Given the description of an element on the screen output the (x, y) to click on. 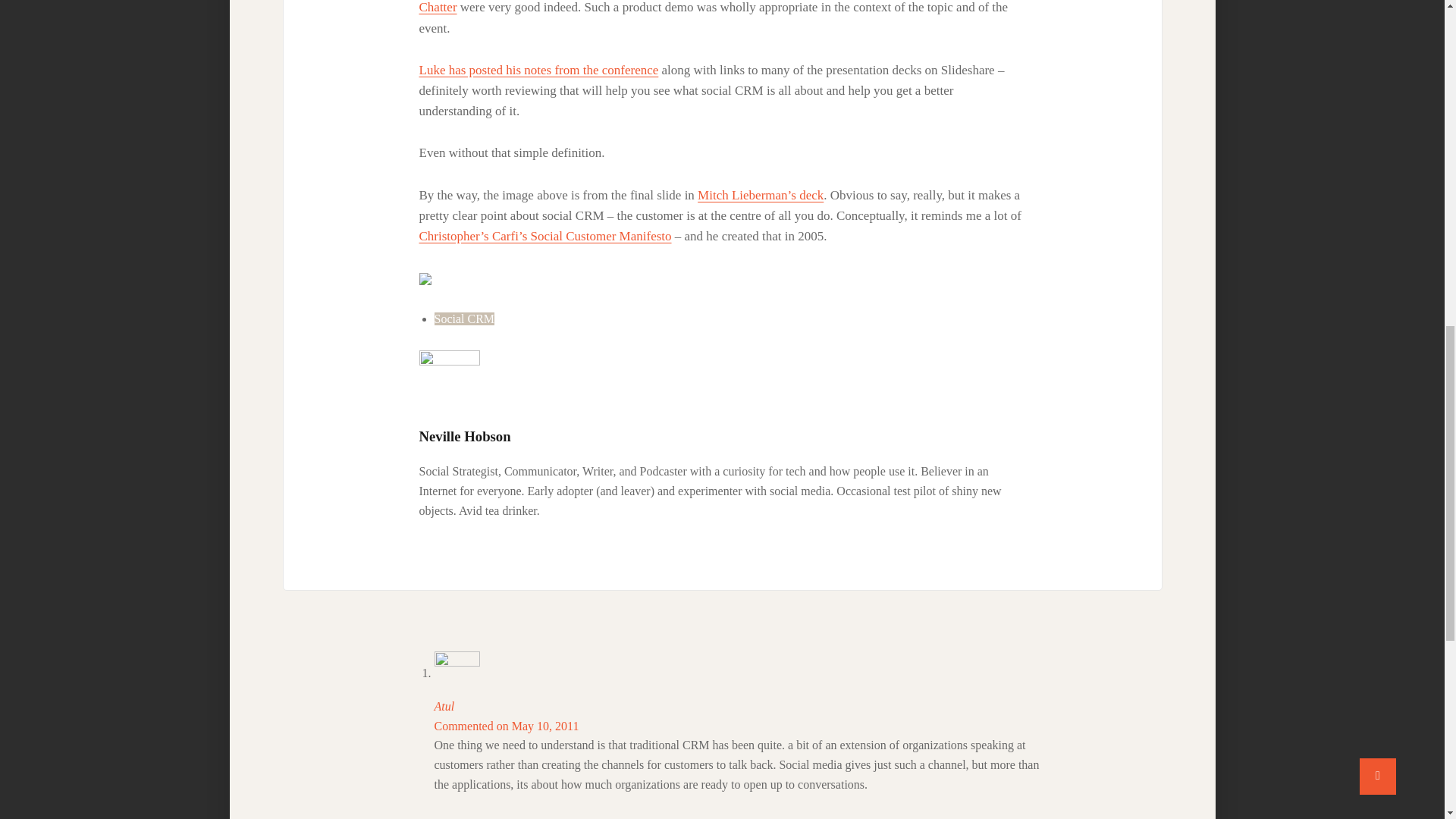
Atul (443, 706)
Luke has posted his notes from the conference (538, 69)
Commented on May 10, 2011 (505, 725)
Social CRM (464, 318)
Chatter (438, 7)
